Given the description of an element on the screen output the (x, y) to click on. 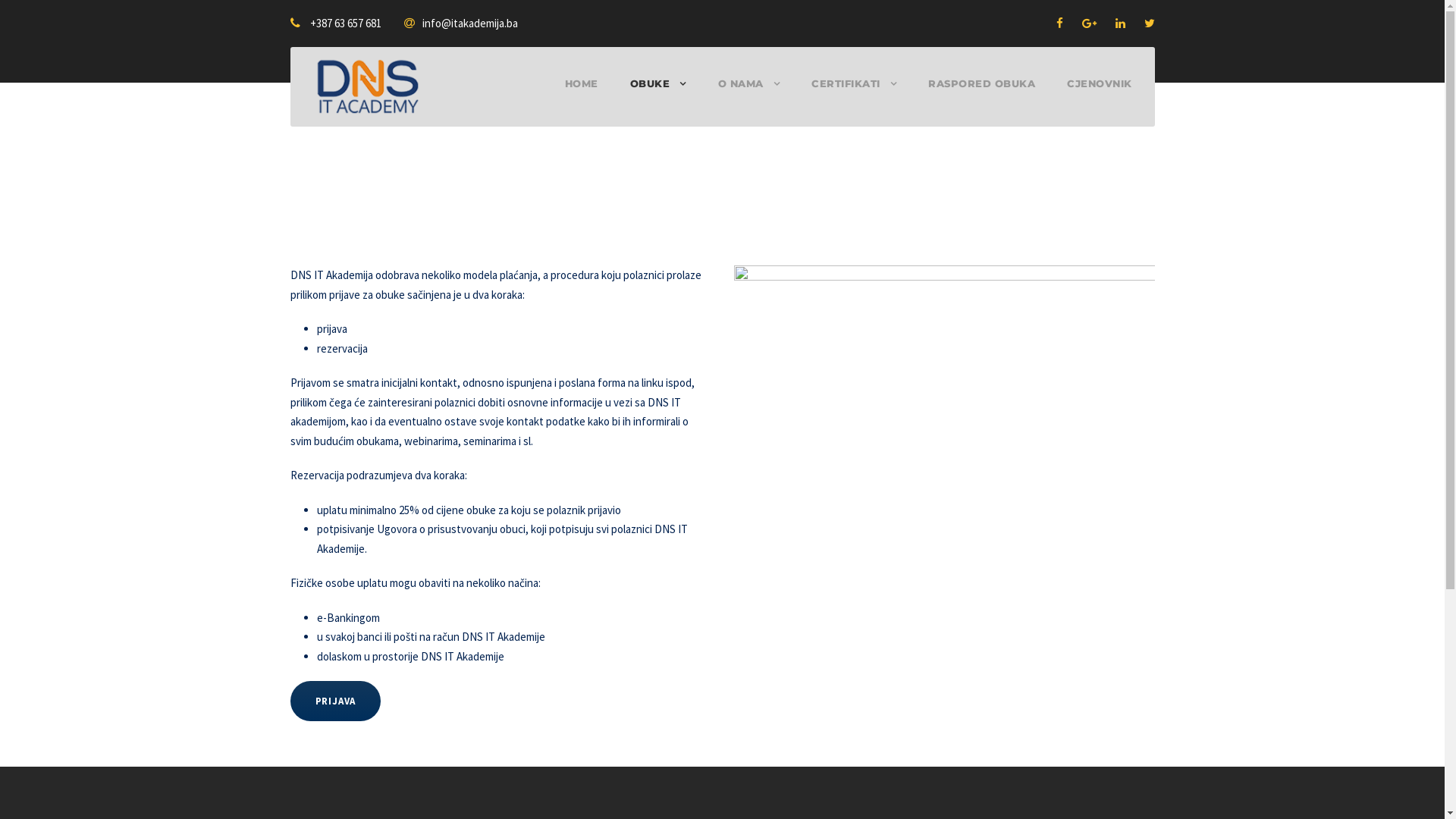
linkedin Element type: hover (1119, 22)
security-1 Element type: hover (944, 422)
RASPORED OBUKA Element type: text (981, 96)
HOME Element type: text (580, 96)
OBUKE Element type: text (657, 96)
PRIJAVA Element type: text (334, 700)
facebook Element type: hover (1058, 22)
google-plus Element type: hover (1088, 22)
O NAMA Element type: text (748, 96)
twitter Element type: hover (1148, 22)
CERTIFIKATI Element type: text (853, 96)
logo Element type: hover (366, 86)
CJENOVNIK Element type: text (1099, 96)
